Given the description of an element on the screen output the (x, y) to click on. 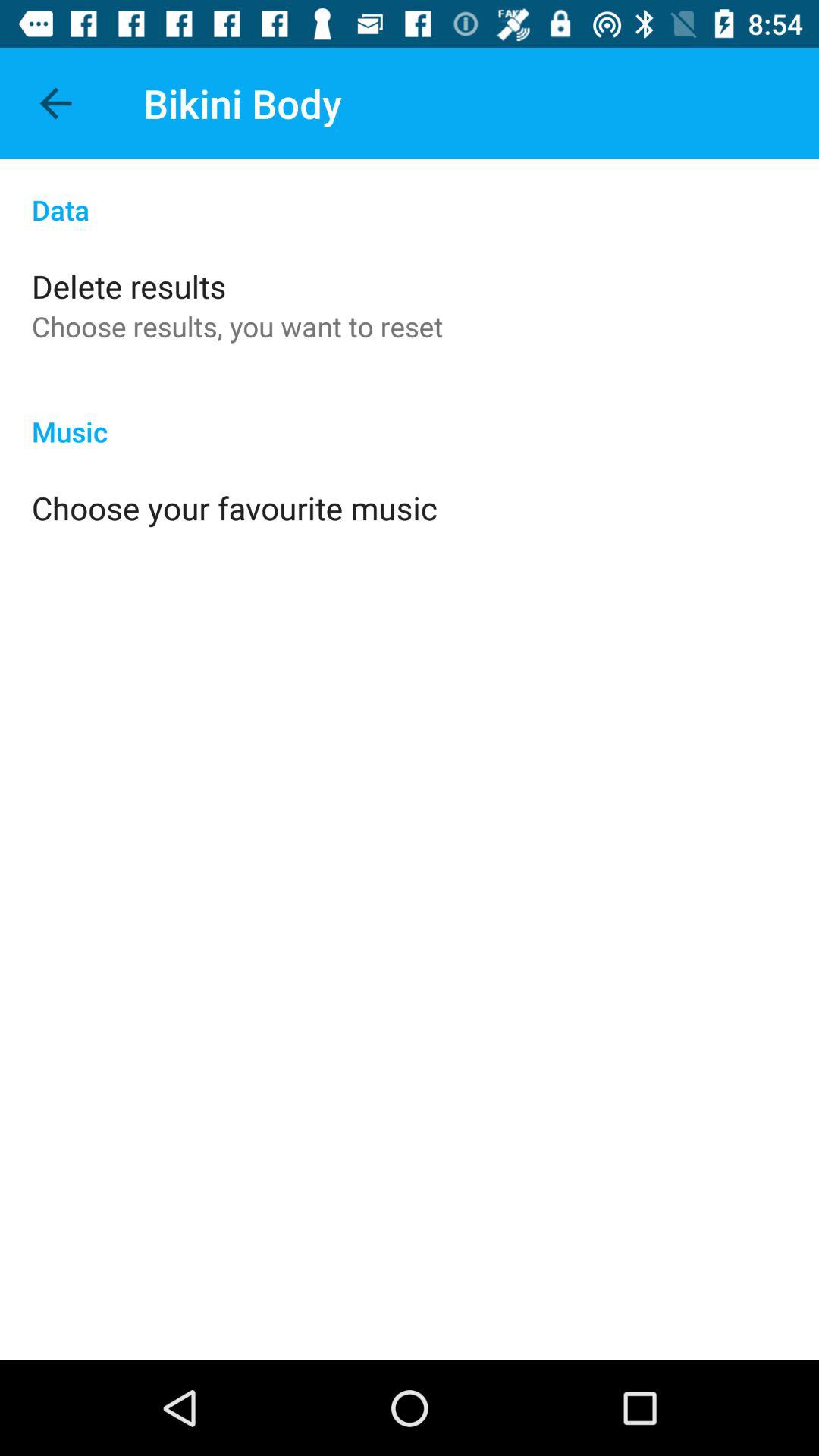
launch icon above choose results you app (128, 285)
